Given the description of an element on the screen output the (x, y) to click on. 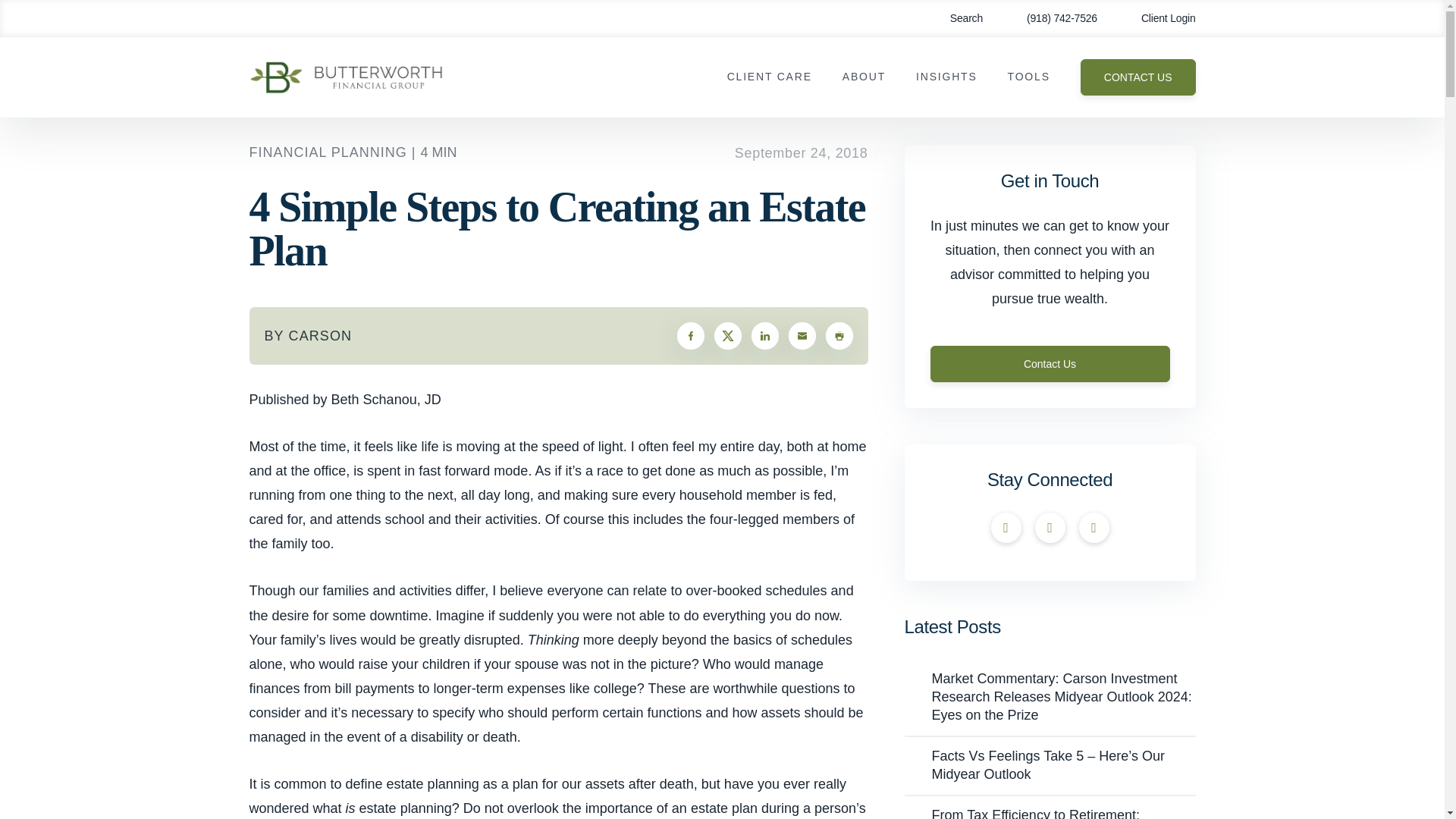
Search (955, 18)
CLIENT CARE (769, 77)
TOOLS (1028, 77)
ABOUT (864, 77)
INSIGHTS (945, 77)
CONTACT US (1137, 76)
Client Login (1157, 18)
